Given the description of an element on the screen output the (x, y) to click on. 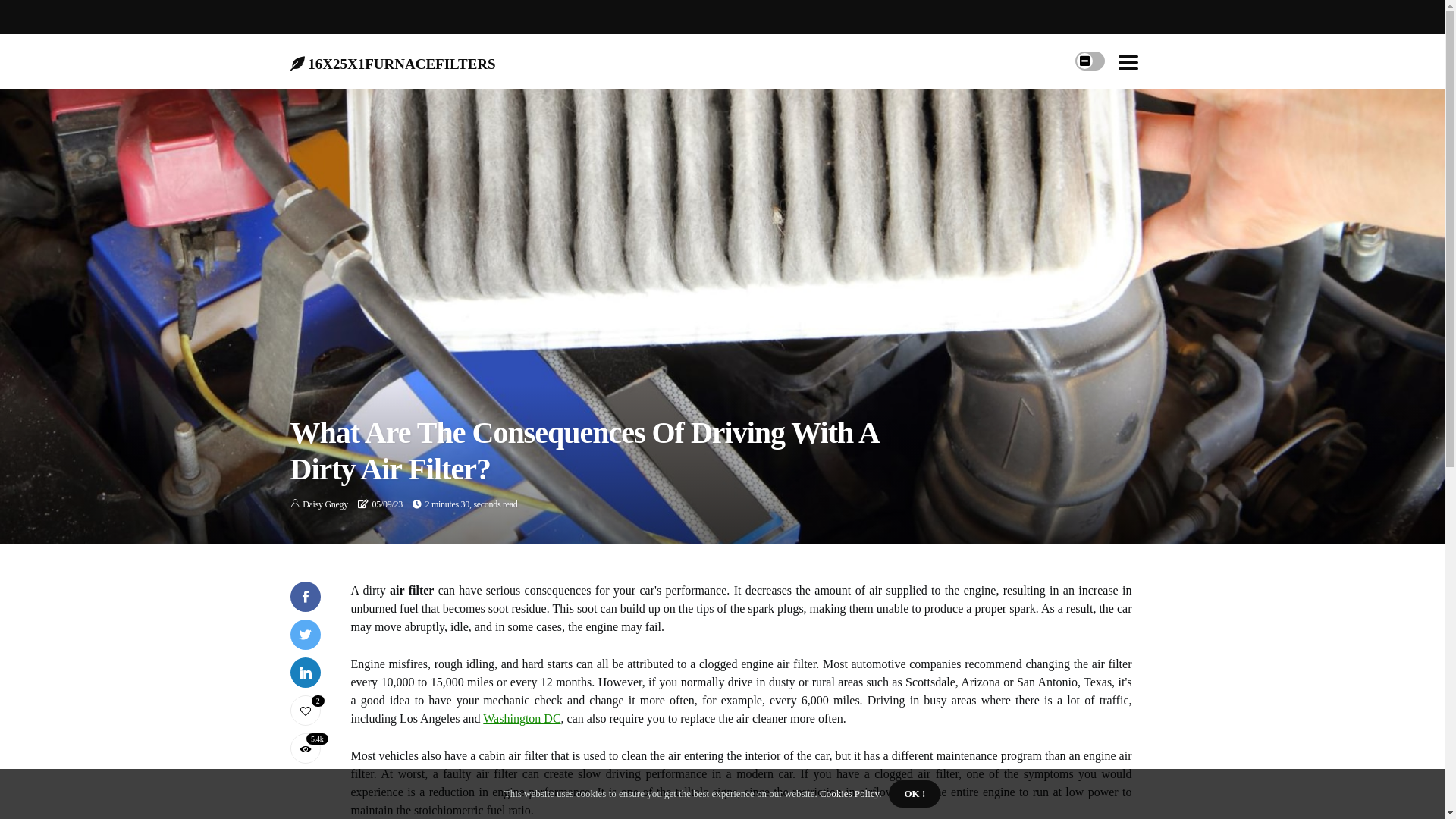
Washington DC Element type: text (521, 718)
Cookies Policy Element type: text (848, 793)
16x25x1furnacefilters Element type: text (392, 60)
2 Element type: text (304, 710)
Daisy Gnegy Element type: text (325, 503)
